Given the description of an element on the screen output the (x, y) to click on. 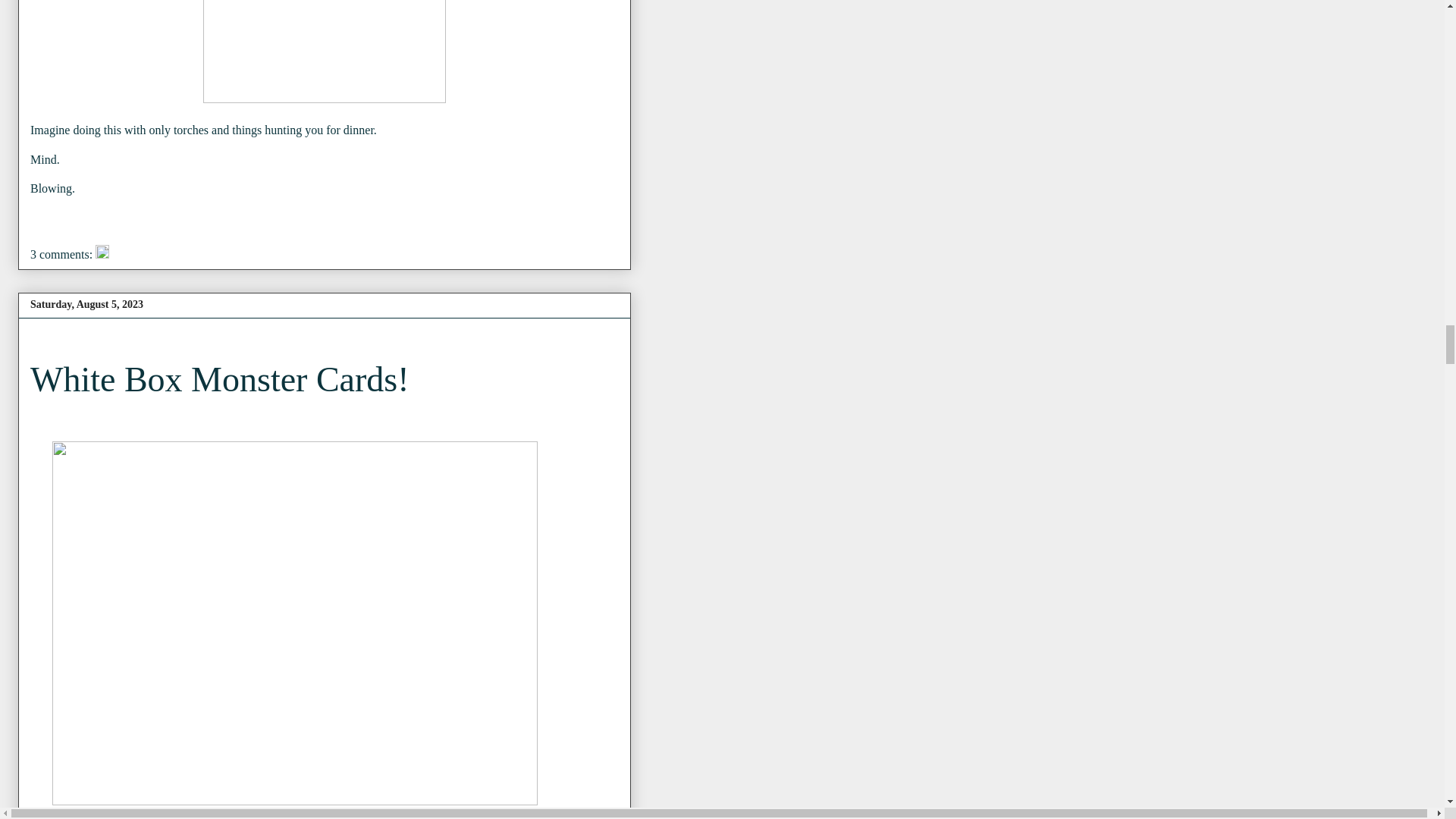
Edit Post (102, 254)
